Given the description of an element on the screen output the (x, y) to click on. 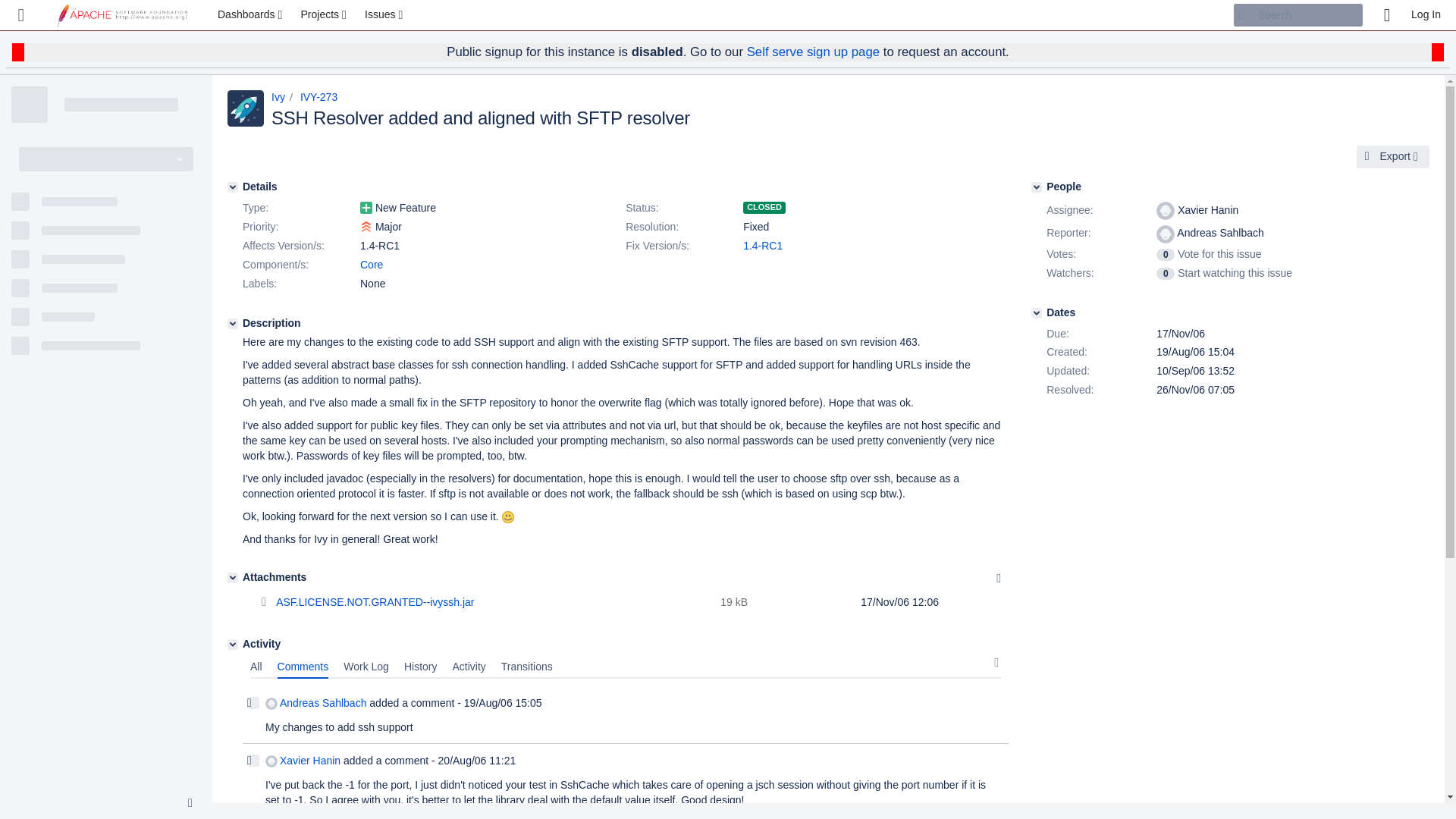
Search for issues and view recent issues (384, 15)
Help (1386, 15)
IVY-273 (318, 96)
Projects (324, 15)
Export (1392, 156)
View recent projects and browse a list of projects (324, 15)
Linked Applications (20, 15)
View and manage your dashboards (251, 15)
Self serve sign up page (812, 51)
Dashboards (251, 15)
1.4-RC1 (762, 245)
Help (1386, 15)
Core (370, 264)
Ivy (277, 96)
Options (998, 578)
